Given the description of an element on the screen output the (x, y) to click on. 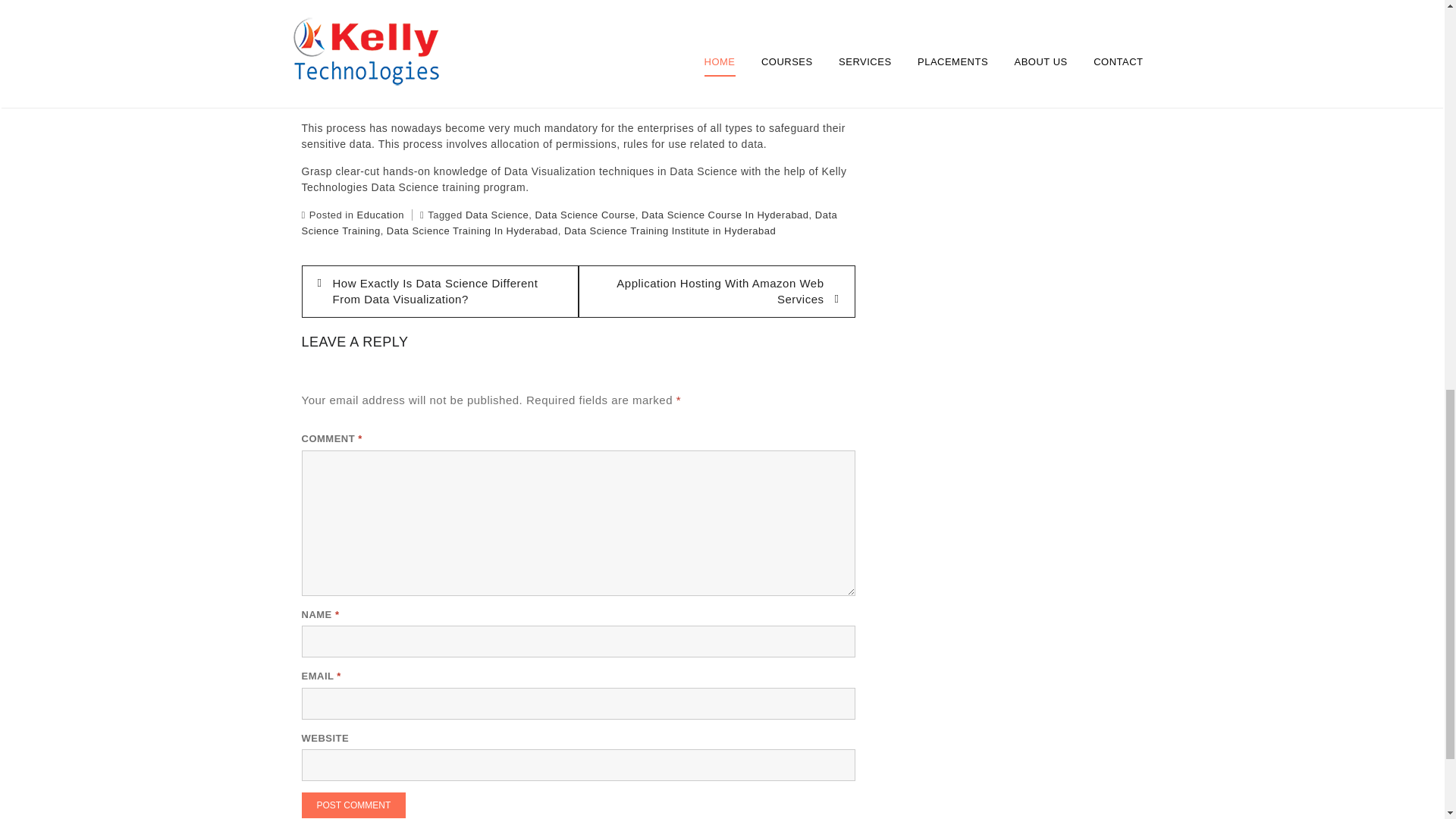
Education (380, 214)
Data Science Training In Hyderabad (472, 230)
Data Science (496, 214)
Data Science Course (584, 214)
Data Science Training (569, 222)
Data Science Training Institute in Hyderabad (670, 230)
Post Comment (353, 805)
Data Science Course In Hyderabad (725, 214)
